Given the description of an element on the screen output the (x, y) to click on. 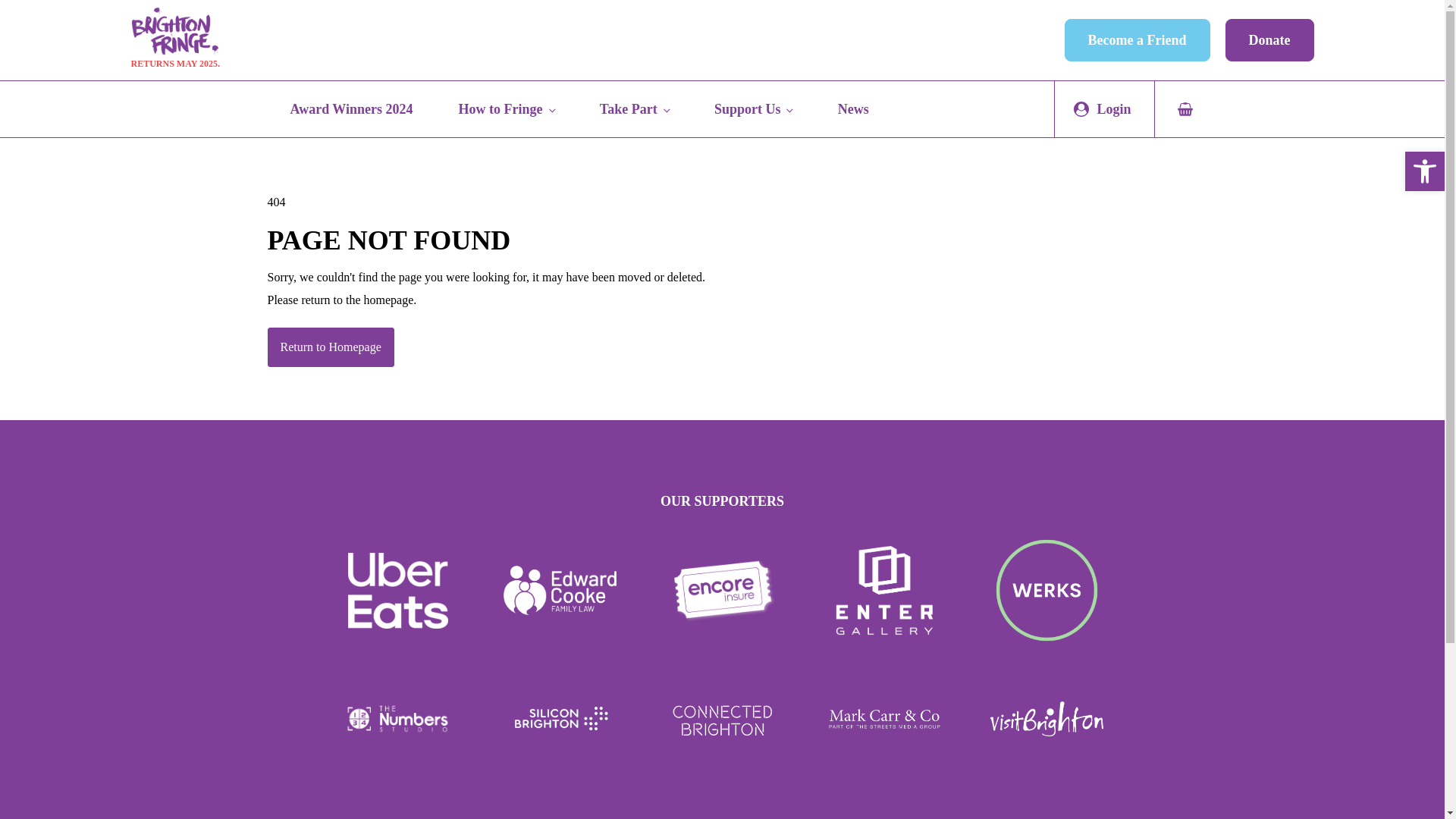
Donate (1269, 39)
Support Us (753, 109)
News (853, 109)
How to Fringe (505, 109)
Become a Friend (1136, 39)
Take Part (633, 109)
Award Winners 2024 (350, 109)
RETURNS MAY 2025. (175, 39)
Accessibility Tools (1424, 170)
